Given the description of an element on the screen output the (x, y) to click on. 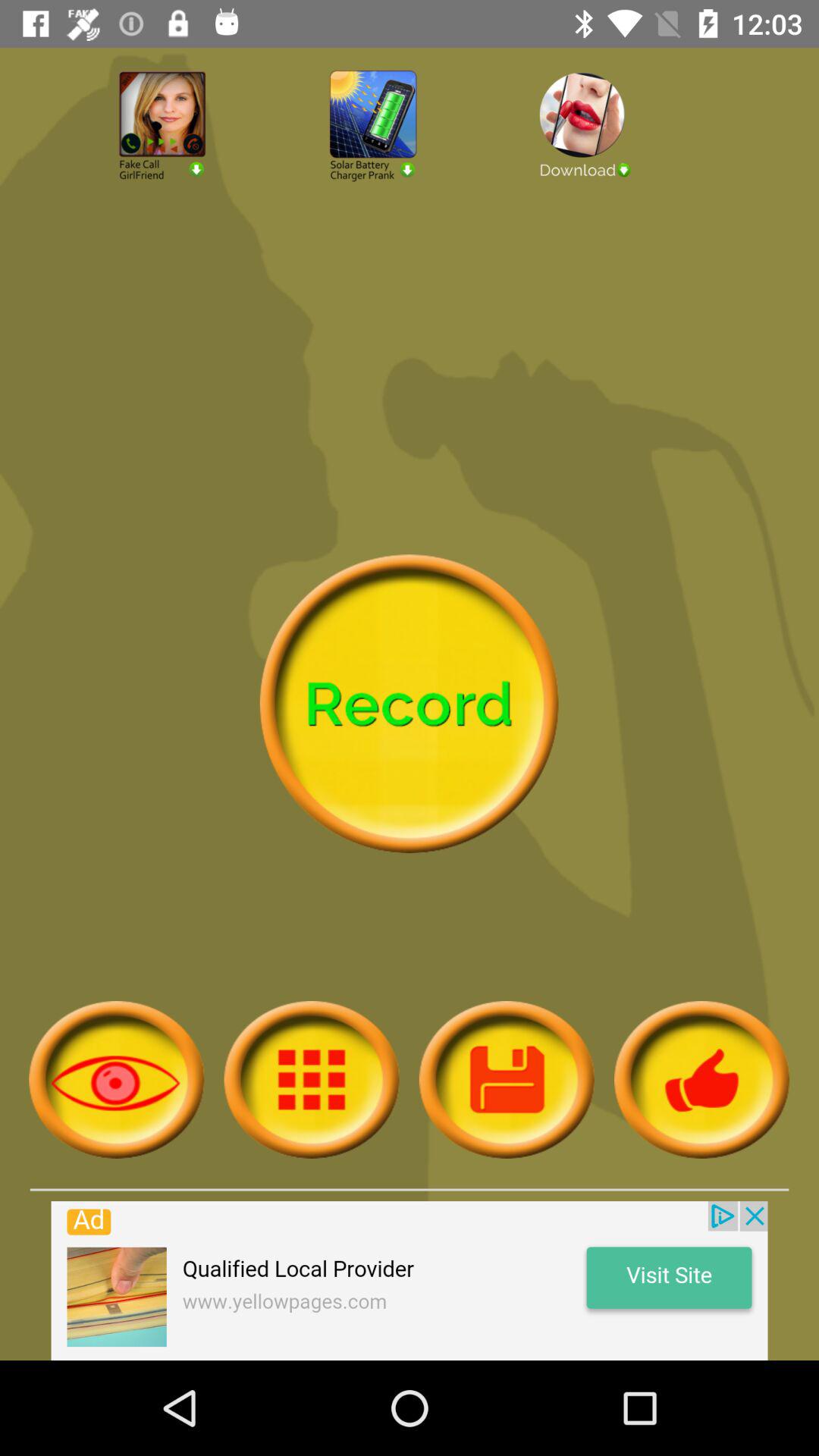
qualified local provider add (409, 1280)
